Given the description of an element on the screen output the (x, y) to click on. 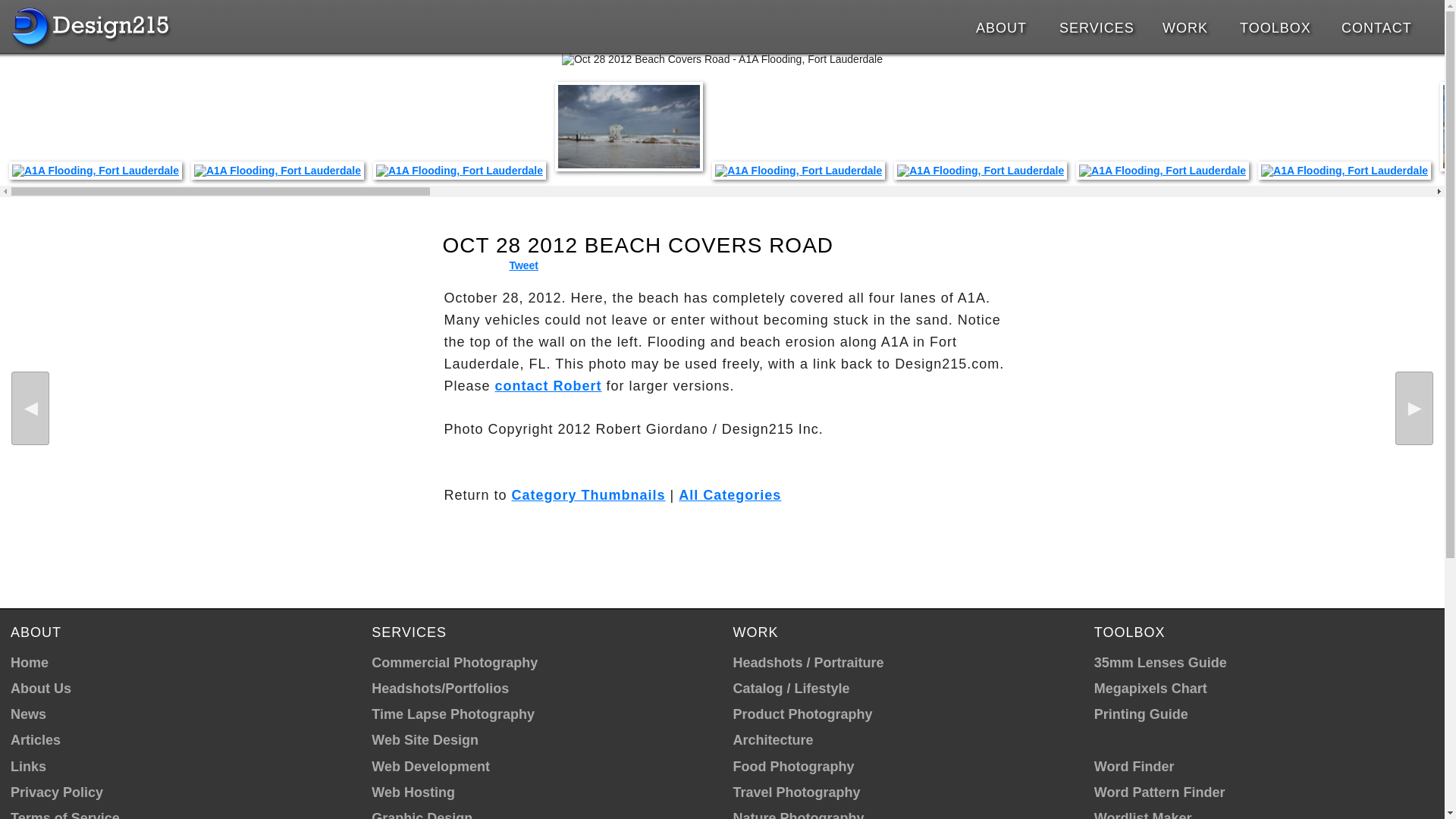
CONTACT (1374, 27)
SERVICES (1097, 27)
WORK (1187, 27)
TOOLBOX (1276, 27)
ABOUT (1003, 27)
Tweet (523, 265)
